Given the description of an element on the screen output the (x, y) to click on. 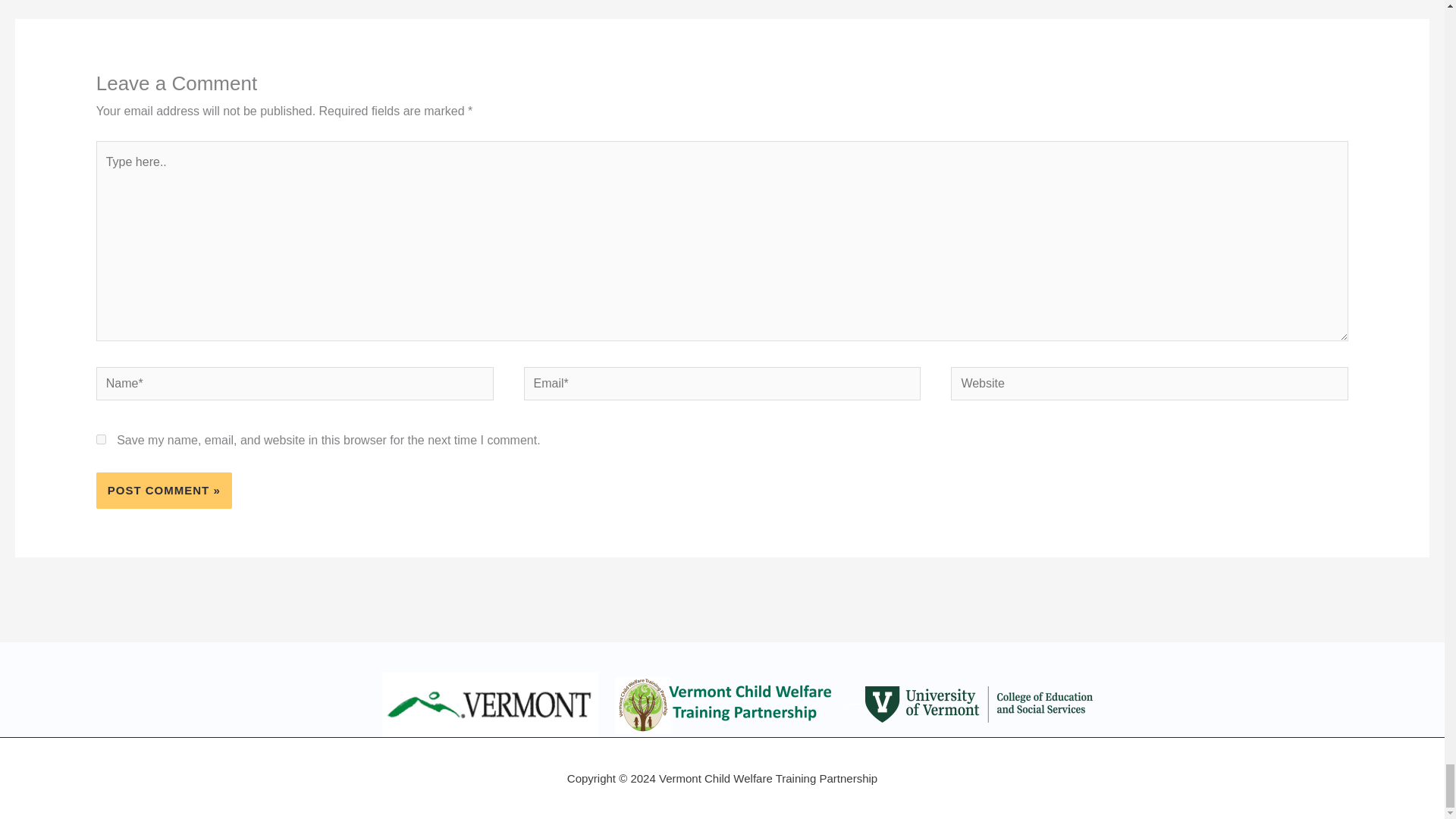
yes (101, 439)
